Given the description of an element on the screen output the (x, y) to click on. 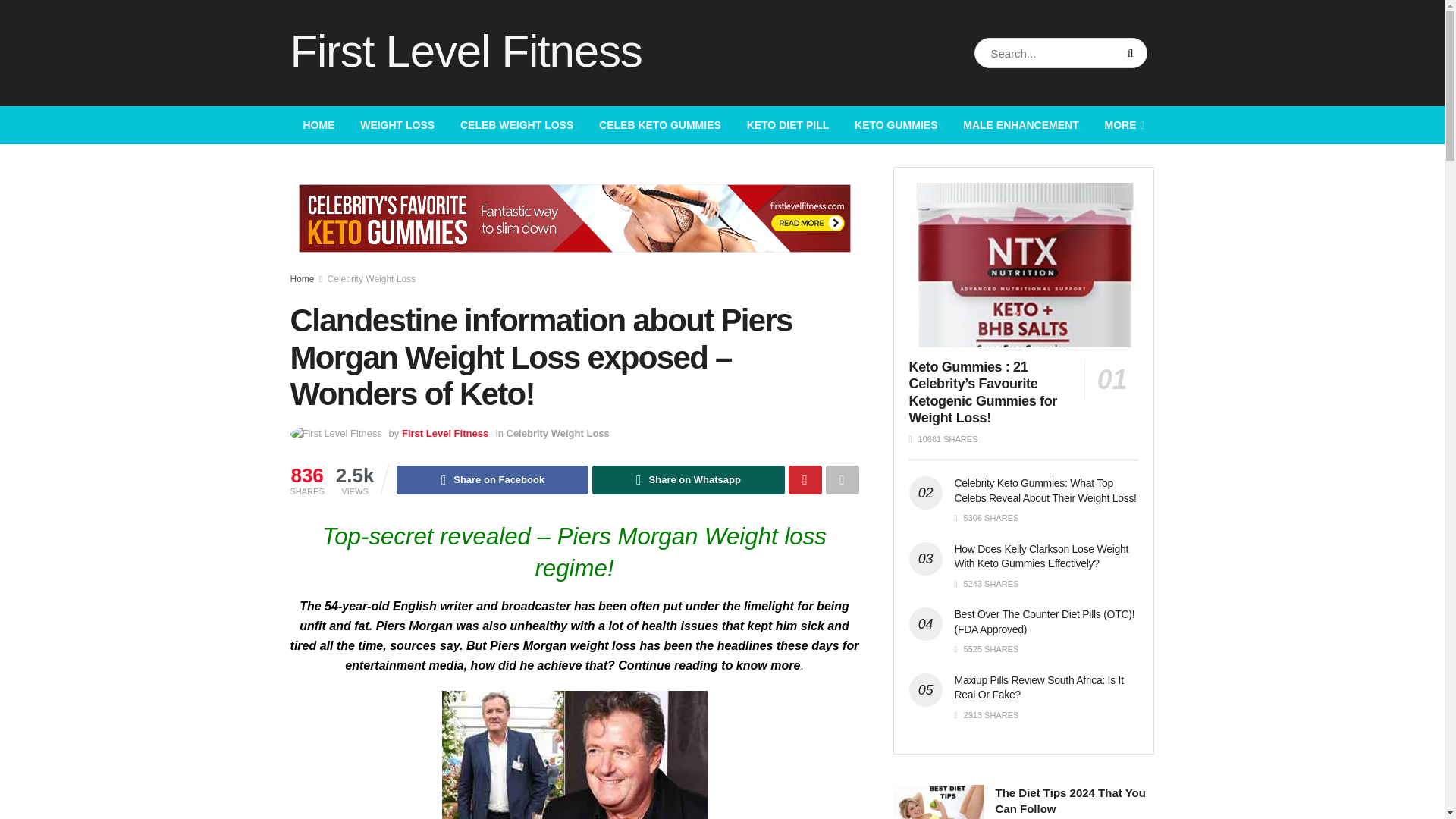
HOME (318, 125)
First Level Fitness (465, 52)
CELEB WEIGHT LOSS (516, 125)
MORE (1123, 125)
KETO DIET PILL (787, 125)
WEIGHT LOSS (396, 125)
CELEB KETO GUMMIES (659, 125)
KETO GUMMIES (895, 125)
MALE ENHANCEMENT (1020, 125)
